Given the description of an element on the screen output the (x, y) to click on. 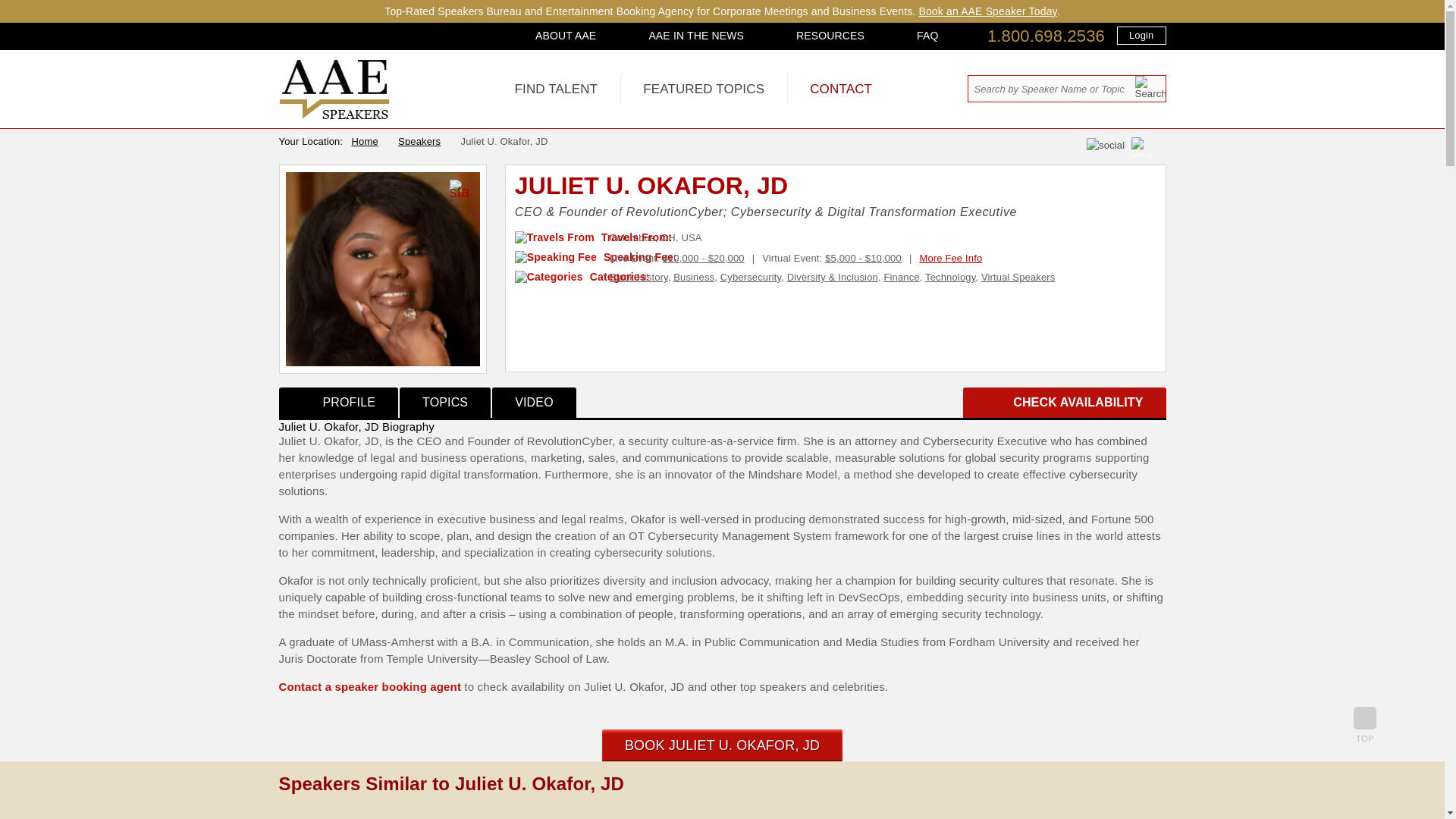
Login (1141, 35)
RESOURCES (829, 34)
Book an AAE Speaker Today (987, 10)
FAQ (927, 34)
ABOUT AAE (565, 34)
All American Speakers Bureau and Celebrity Booking Agency (334, 115)
1.800.698.2536 (1046, 35)
AAE IN THE NEWS (695, 34)
Search (1150, 87)
